Given the description of an element on the screen output the (x, y) to click on. 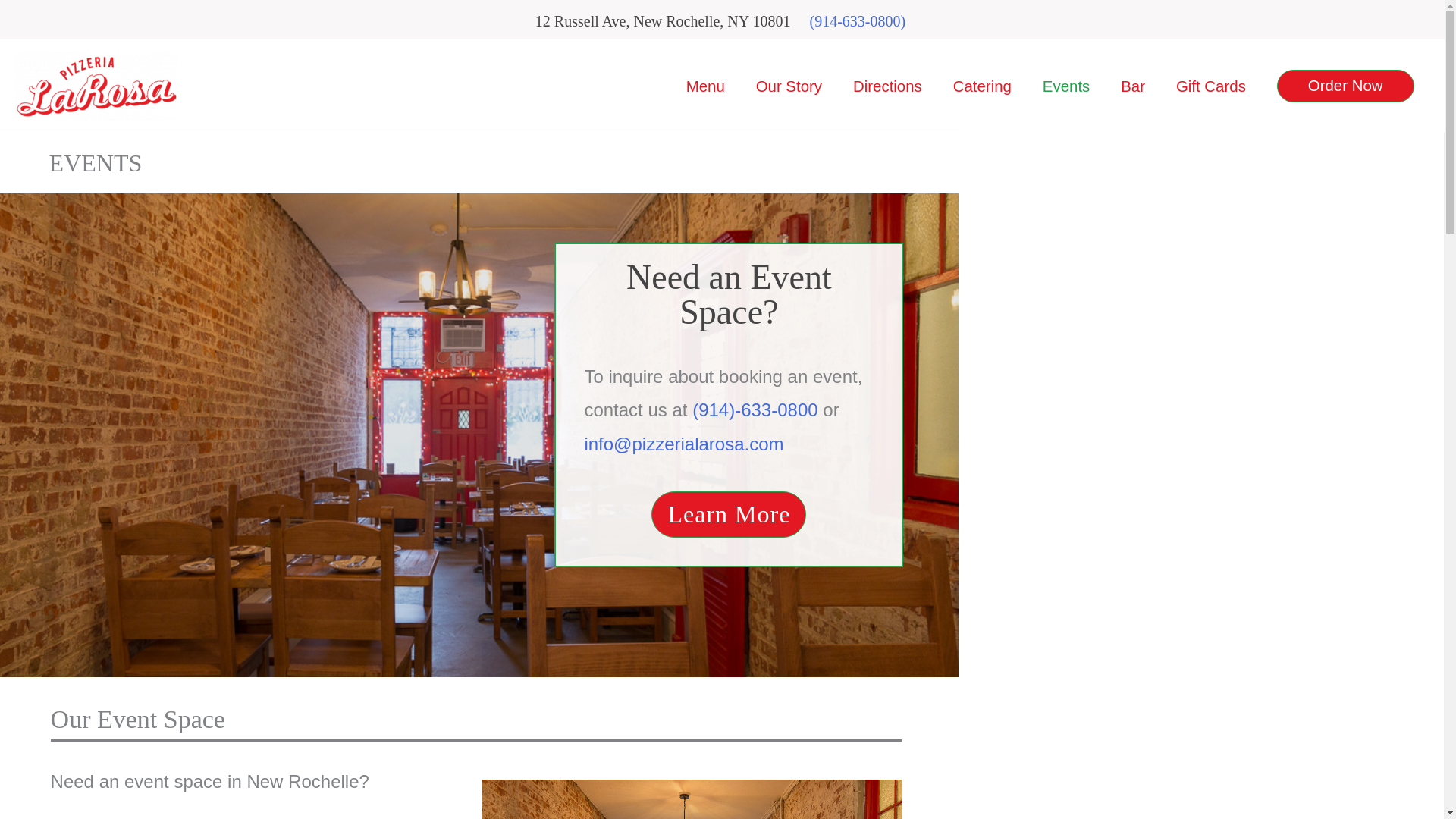
Learn More (728, 514)
Gift Cards (1210, 86)
Learn More (728, 514)
Our Story (788, 86)
Bar (1132, 86)
Menu (704, 86)
Pizzeria La Rosa Event Room (691, 799)
Catering (981, 86)
Directions (887, 86)
Events (1065, 86)
